Given the description of an element on the screen output the (x, y) to click on. 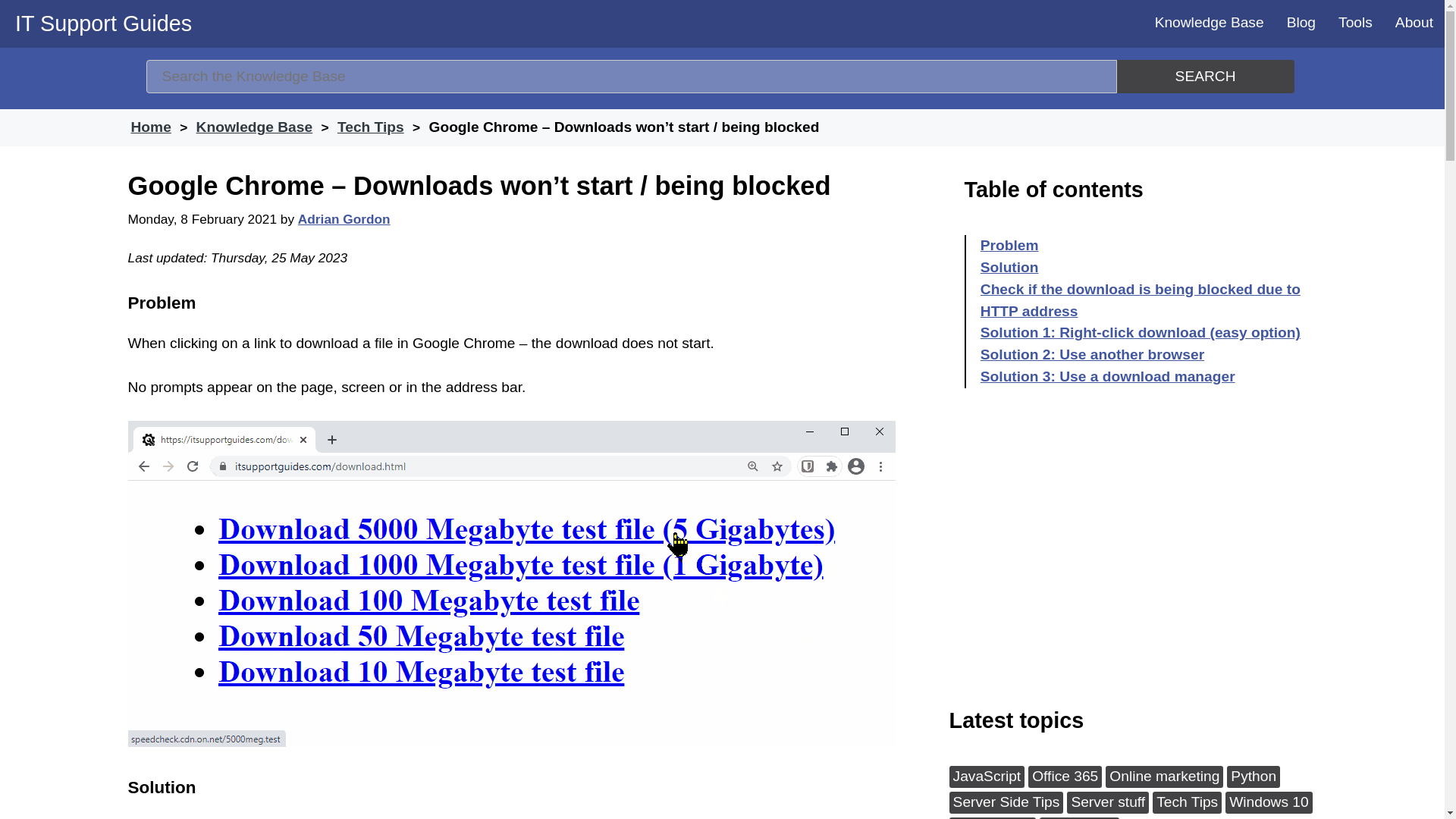
Advertisement (1142, 561)
Solution (1009, 265)
Adrian Gordon (344, 217)
Knowledge Base (1208, 22)
SEARCH (1205, 76)
Tech Tips (372, 126)
Home (152, 126)
Knowledge Base (256, 126)
View all posts in Tech Tips (372, 126)
Home (152, 126)
